Given the description of an element on the screen output the (x, y) to click on. 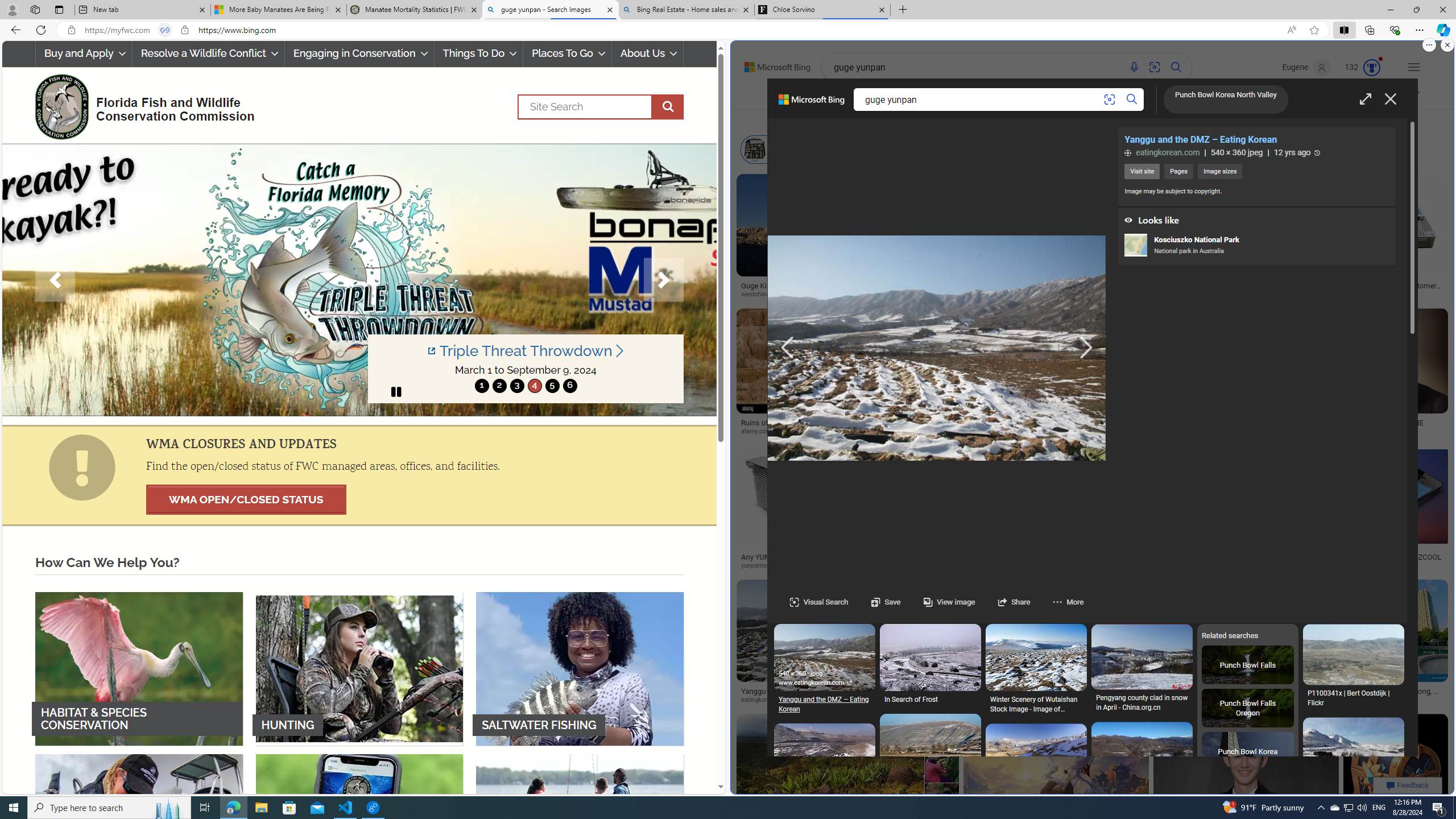
marpple.shop (1187, 699)
shopee.ph (1210, 430)
marpple.shop (1242, 699)
Search using voice (1134, 66)
Gauge Tool Kit (1296, 213)
People (1023, 121)
Places To Go (566, 53)
Image may be subject to copyright. (1172, 191)
